Given the description of an element on the screen output the (x, y) to click on. 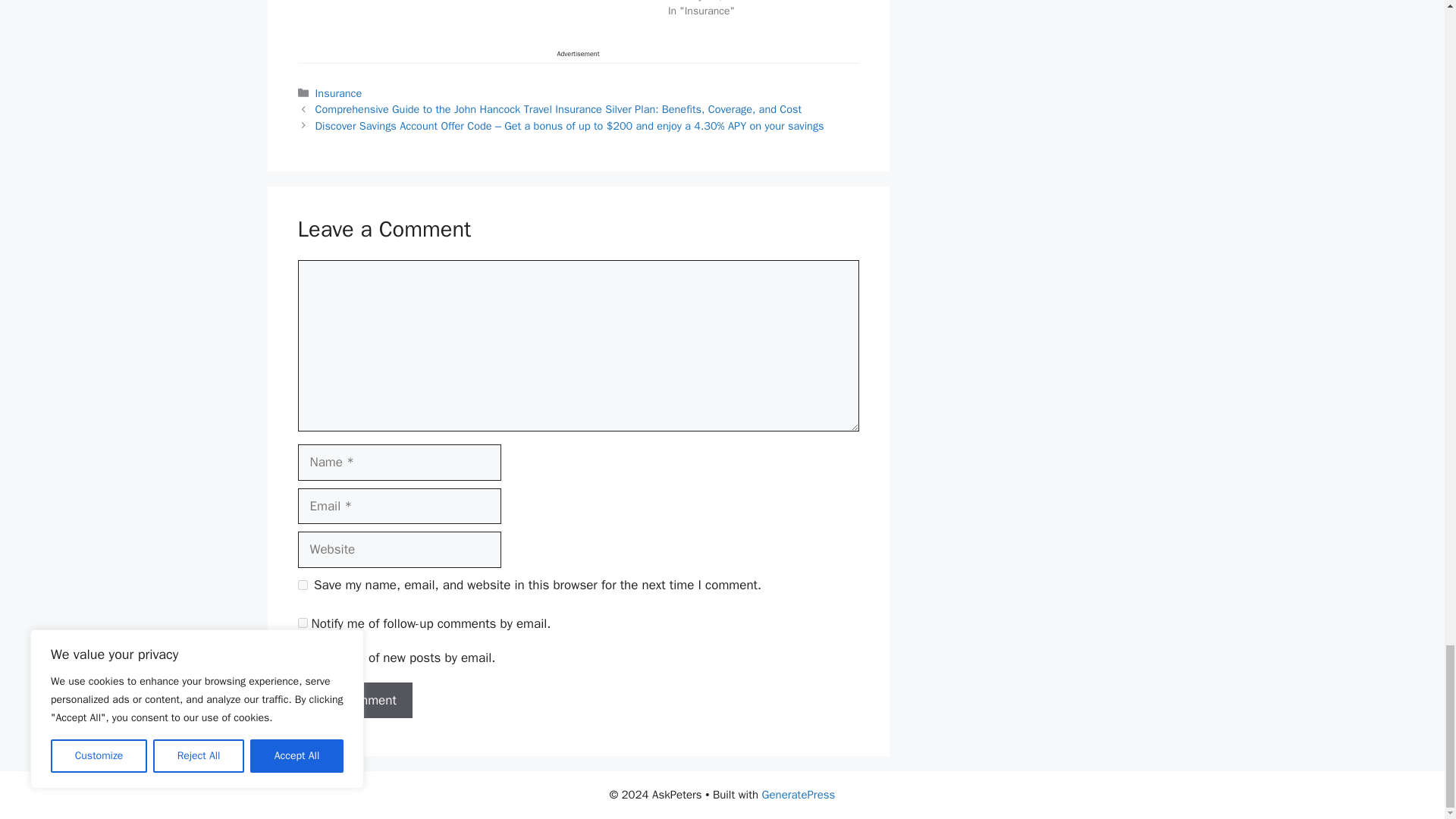
Post Comment (354, 700)
subscribe (302, 623)
yes (302, 584)
subscribe (302, 656)
Insurance (338, 92)
